Given the description of an element on the screen output the (x, y) to click on. 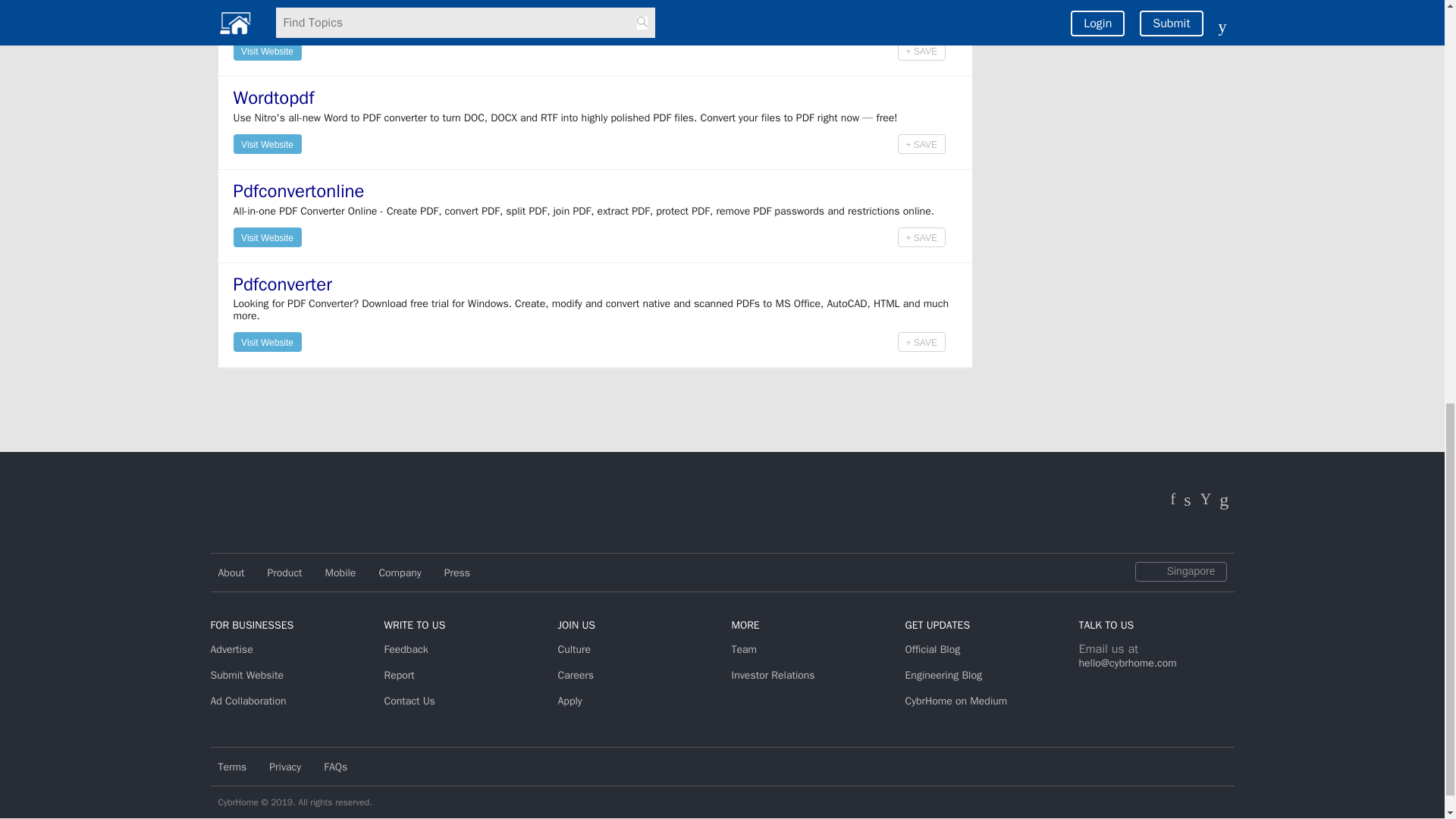
Visit Website (266, 49)
Visit Website (266, 142)
Pdf2Doc (265, 2)
Visit Website (266, 50)
Wordtopdf (273, 97)
